Given the description of an element on the screen output the (x, y) to click on. 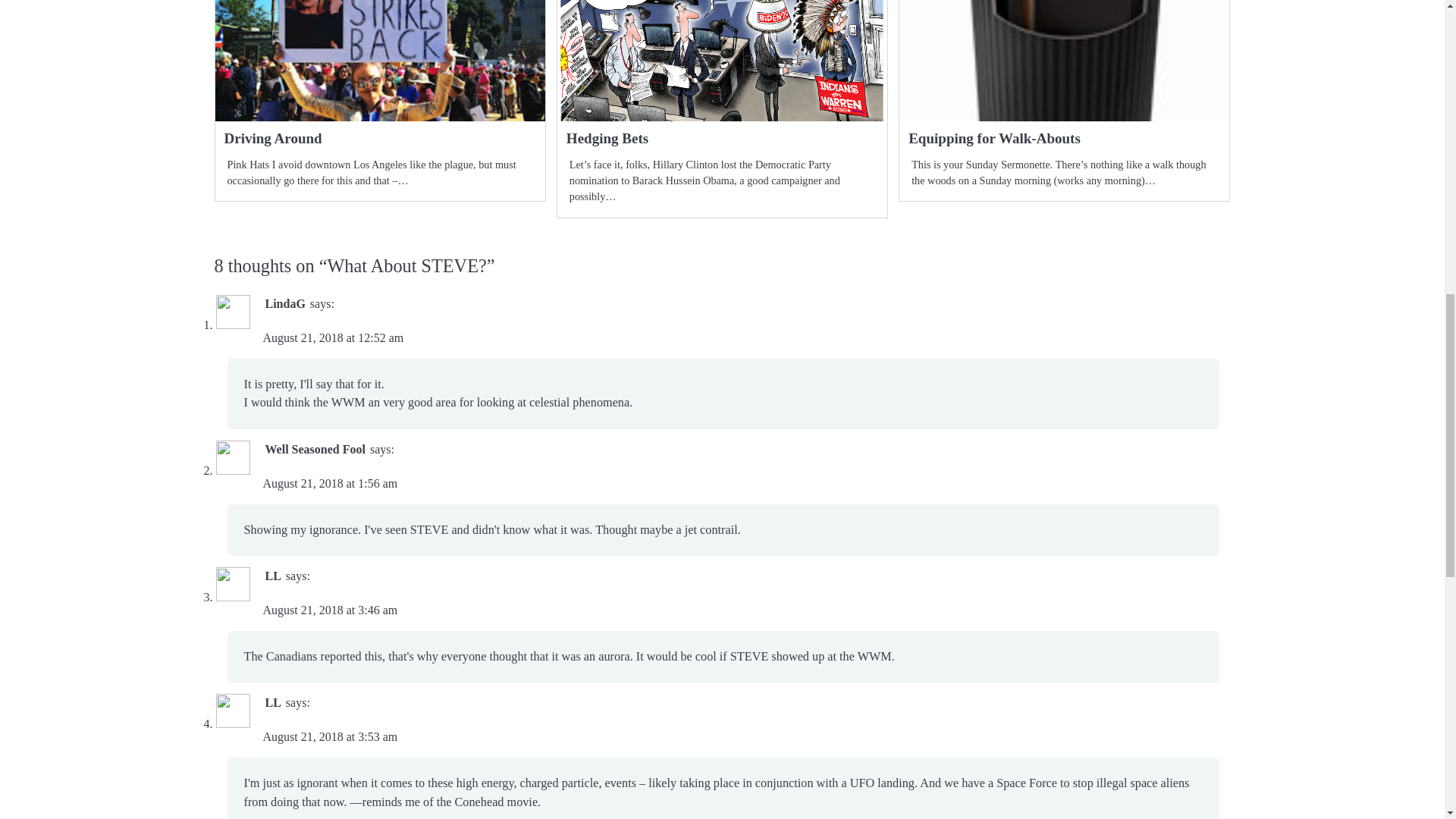
August 21, 2018 at 3:46 am (329, 609)
Equipping for Walk-Abouts (994, 138)
August 21, 2018 at 1:56 am (329, 482)
Driving Around (272, 138)
Hedging Bets (606, 138)
August 21, 2018 at 12:52 am (332, 337)
August 21, 2018 at 3:53 am (329, 736)
